Given the description of an element on the screen output the (x, y) to click on. 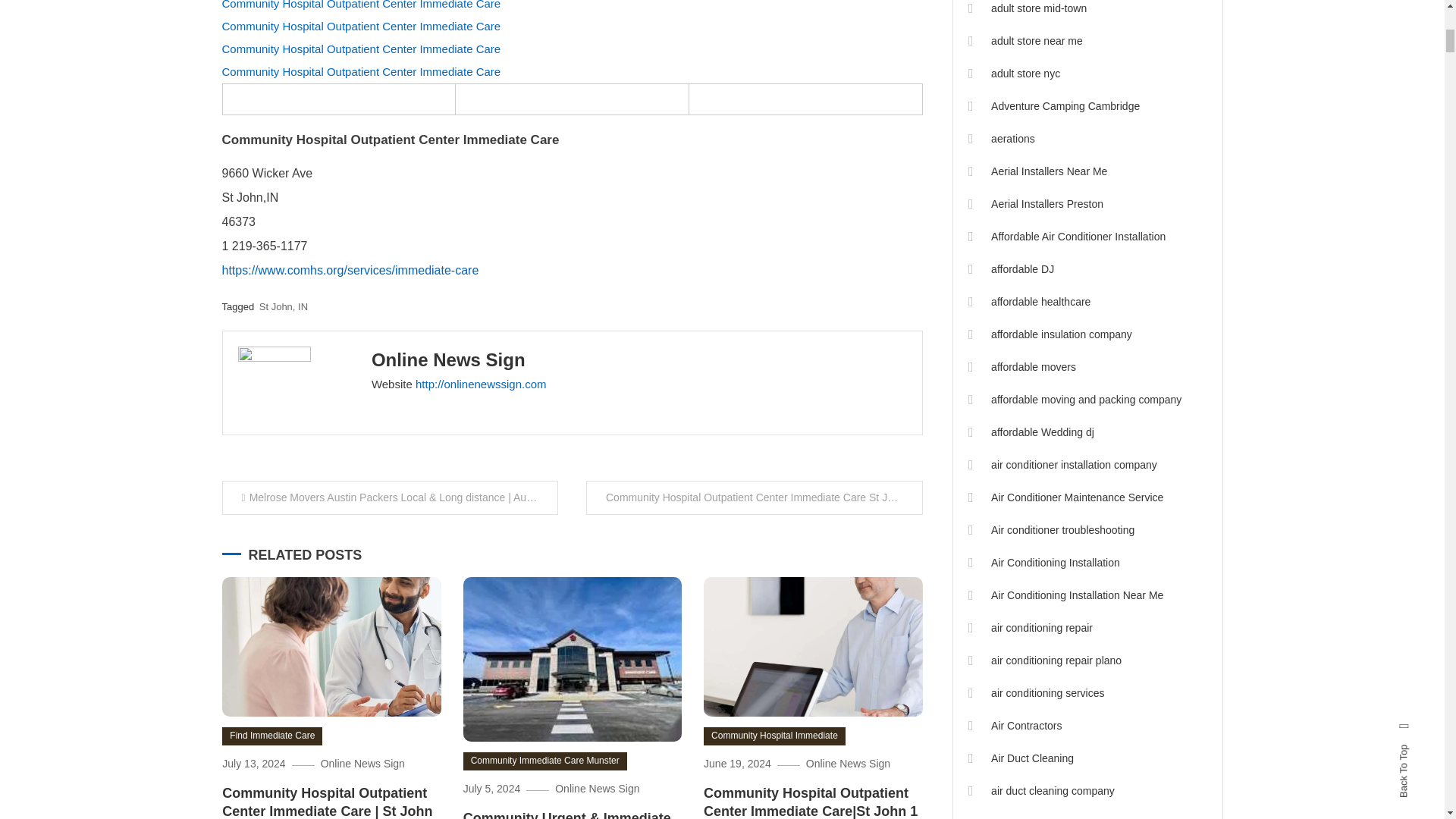
Posts by Online News Sign (448, 359)
